Given the description of an element on the screen output the (x, y) to click on. 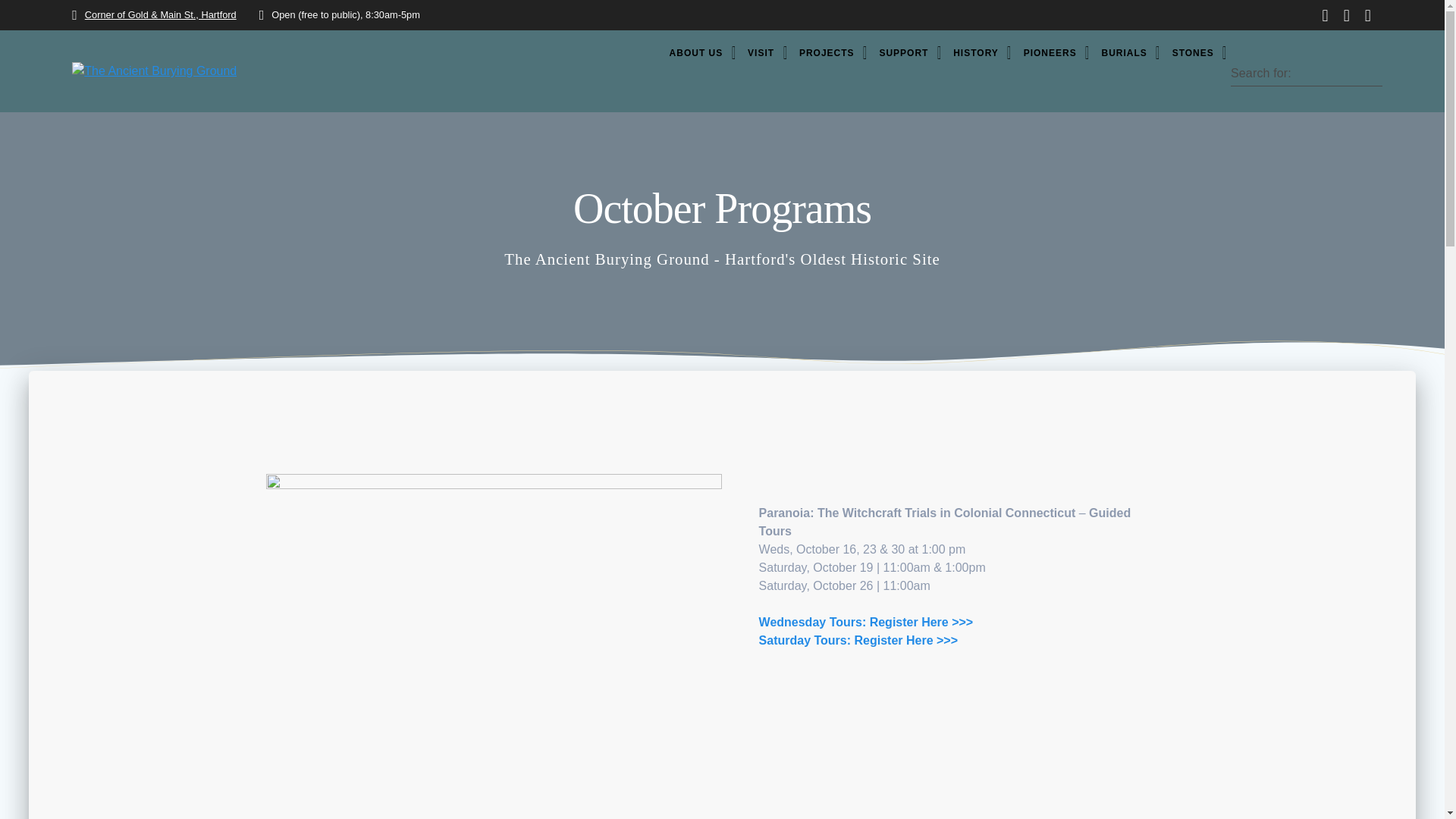
ABOUT US (698, 52)
SUPPORT (906, 52)
HISTORY (977, 52)
PIONEERS (1052, 52)
PROJECTS (828, 52)
VISIT (763, 52)
